Given the description of an element on the screen output the (x, y) to click on. 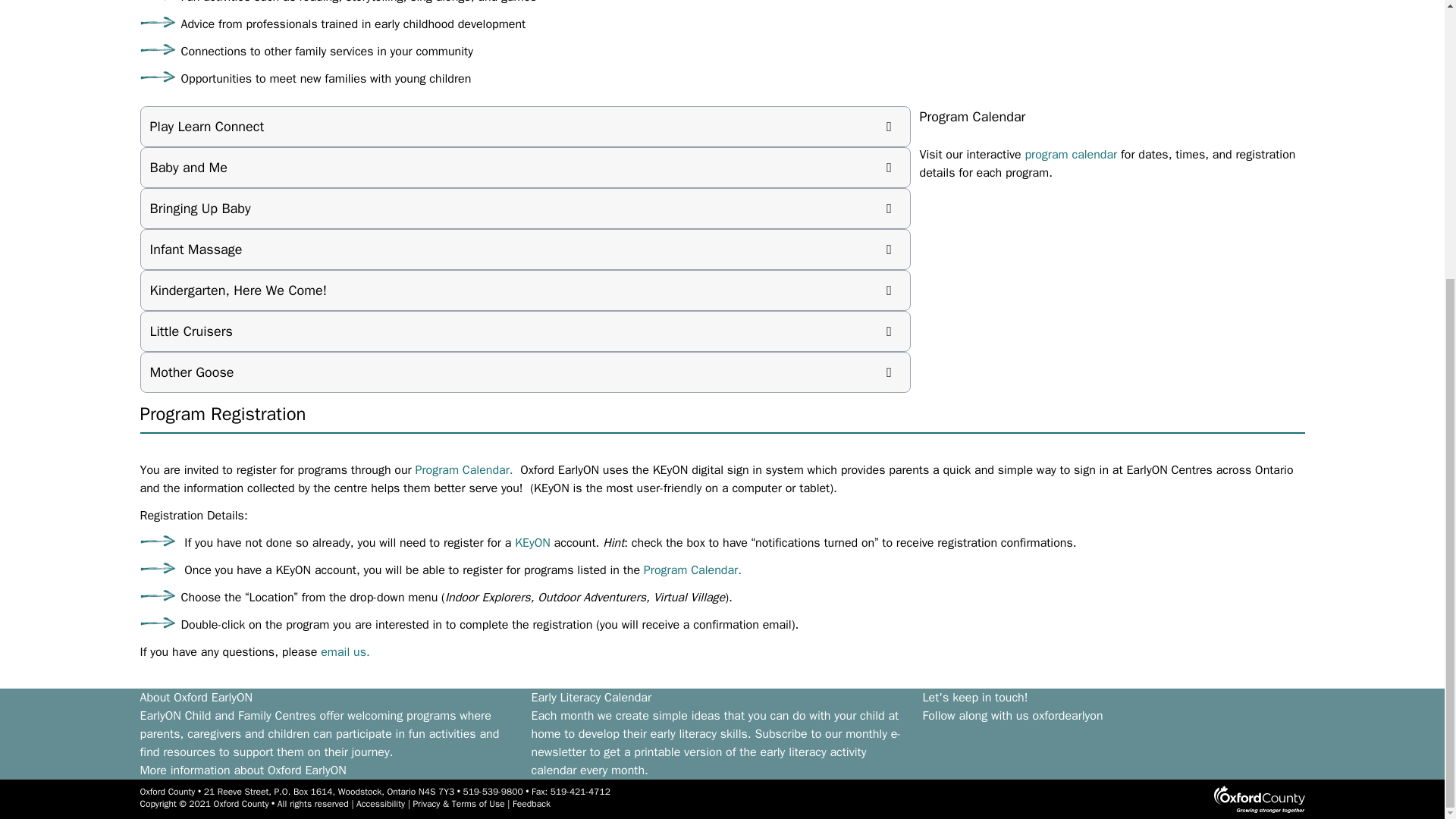
 program calendar  (1071, 154)
Accessibility (380, 803)
More information about Oxford EarlyON (242, 770)
Play Learn Connect (525, 126)
Baby and Me (525, 167)
Mother Goose (525, 372)
KEyON (532, 542)
Feedback (531, 803)
email us. (344, 652)
Program Calendar.  (465, 469)
